Given the description of an element on the screen output the (x, y) to click on. 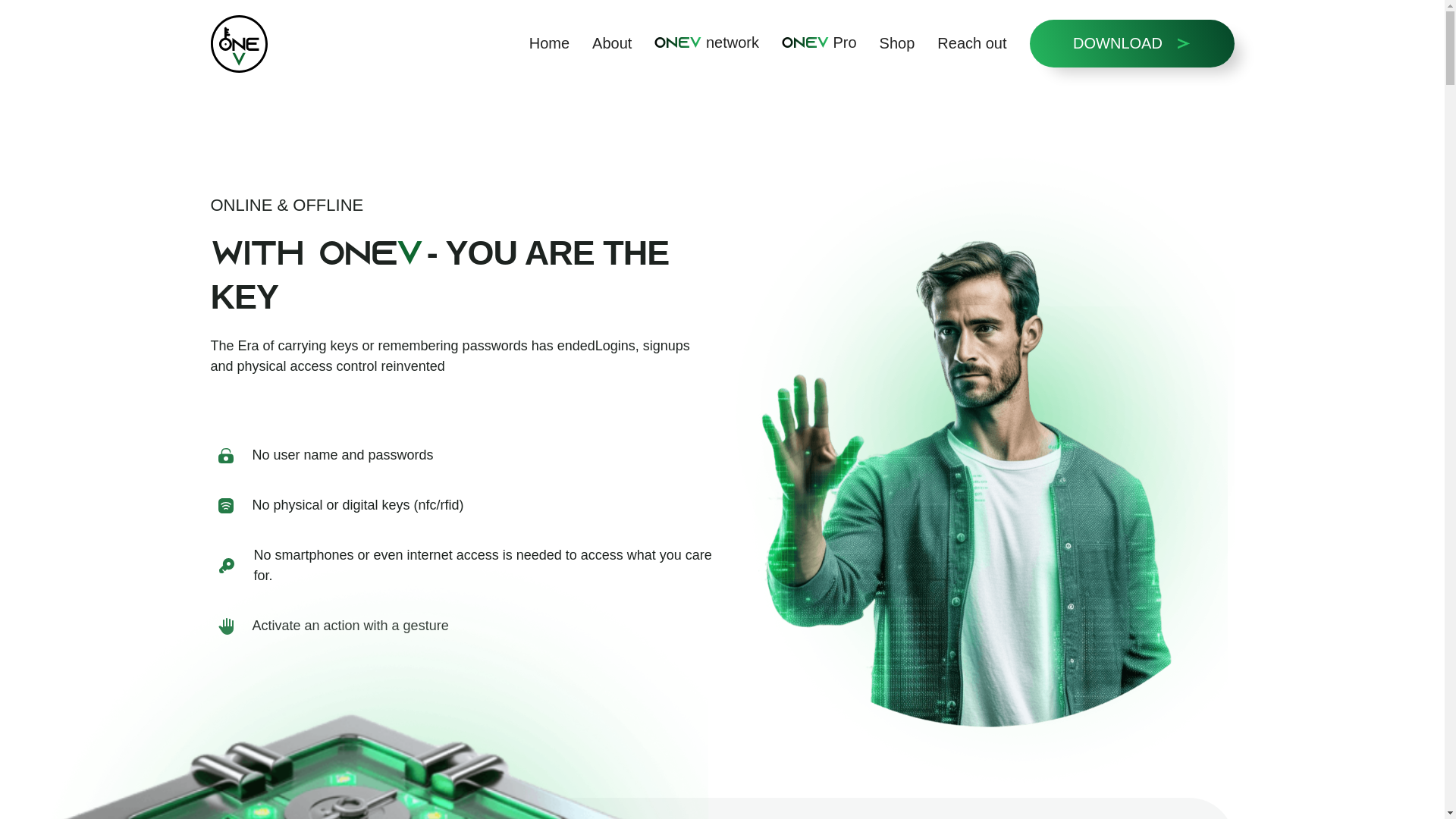
DOWNLOAD Element type: text (1131, 43)
OneV Pro Element type: text (818, 43)
Shop Element type: text (897, 43)
About Element type: text (611, 43)
Reach out Element type: text (971, 43)
Home Element type: text (549, 43)
OneV network Element type: text (706, 43)
